Given the description of an element on the screen output the (x, y) to click on. 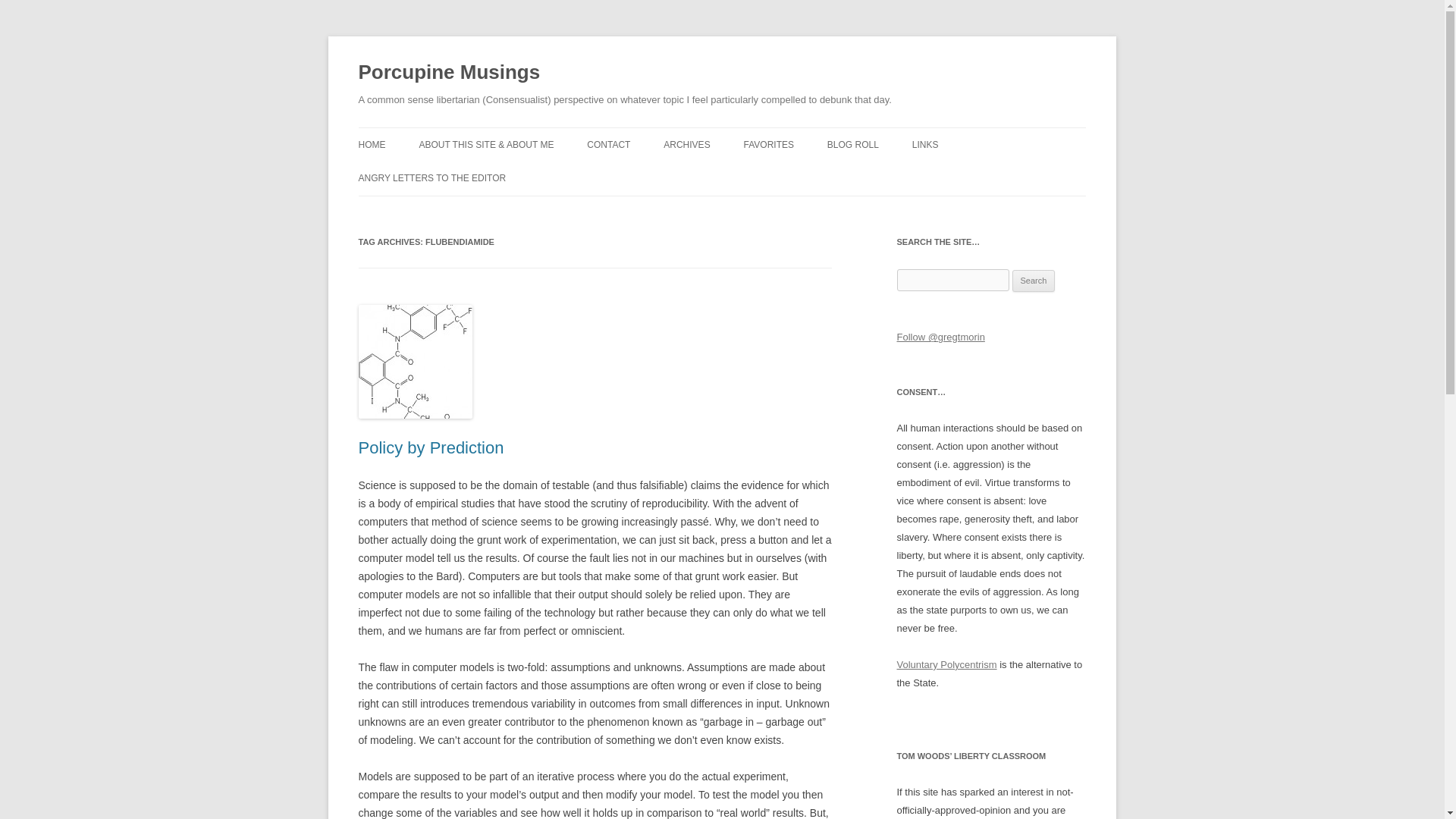
Search (1033, 281)
THE BOB MURPHY SHOW (988, 176)
BOB MURPHY (902, 176)
Policy by Prediction (430, 447)
ARCHIVES (686, 144)
Porcupine Musings (449, 72)
ANGRY LETTERS TO THE EDITOR (431, 177)
CONTACT (608, 144)
THE DEBATE THAT NEVER HAPPENED (819, 185)
BLOG ROLL (853, 144)
FAVORITES (768, 144)
